Given the description of an element on the screen output the (x, y) to click on. 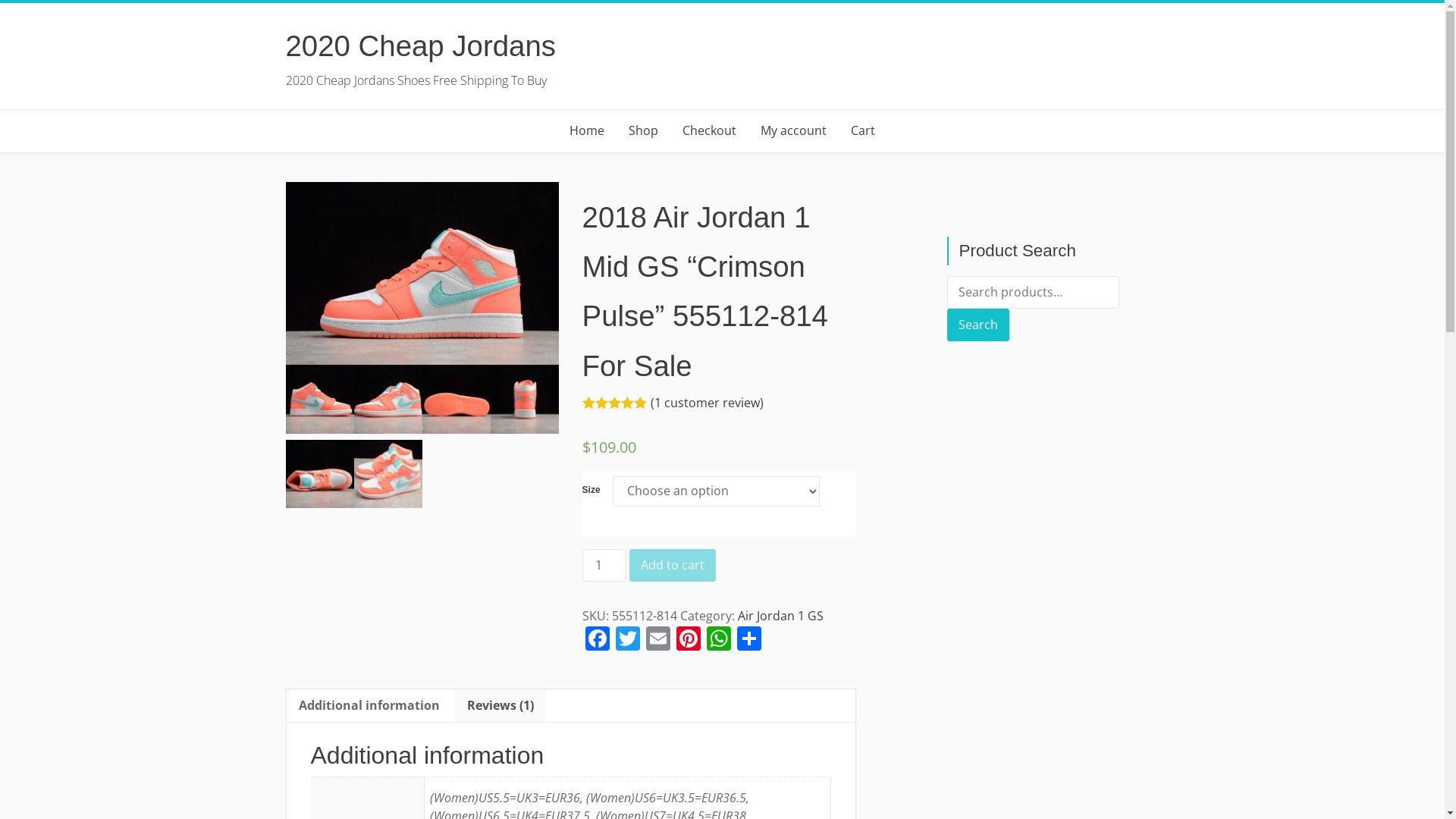
My account Element type: text (793, 130)
2020 Cheap Jordans Element type: text (420, 45)
Share Element type: text (749, 639)
Girls Air Jordan 1 Mid GS "Crimson Pulse" For Sale Element type: hover (456, 398)
Additional information Element type: text (368, 705)
Girls Air Jordan 1 Mid GS "Crimson Pulse" Free Shipping-2 Element type: hover (388, 398)
Girls Air Jordan 1 Mid GS "Crimson Pulse" Free Shipping-1 Element type: hover (319, 398)
New Air Jordan 1 Mid GS "Crimson Pulse" Free Shipping-5 Element type: hover (319, 473)
New Air Jordan 1 Mid GS "Crimson Pulse" Free Shipping-4 Element type: hover (524, 398)
Add to cart Element type: text (672, 565)
New Air Jordan 1 Mid GS "Crimson Pulse" Free Shipping-6 Element type: hover (388, 473)
Email Element type: text (658, 639)
Shop Element type: text (643, 130)
Checkout Element type: text (708, 130)
Air Jordan 1 GS Element type: text (780, 615)
Pinterest Element type: text (688, 639)
Cart Element type: text (862, 130)
(1 customer review) Element type: text (706, 402)
2018 Air Jordan 1 Mid GS "Crimson Pulse" 555112-814 For Sale Element type: hover (421, 273)
Facebook Element type: text (597, 639)
Search Element type: text (977, 324)
Twitter Element type: text (627, 639)
Home Element type: text (586, 130)
Reviews (1) Element type: text (500, 705)
Qty Element type: hover (604, 565)
WhatsApp Element type: text (718, 639)
